Given the description of an element on the screen output the (x, y) to click on. 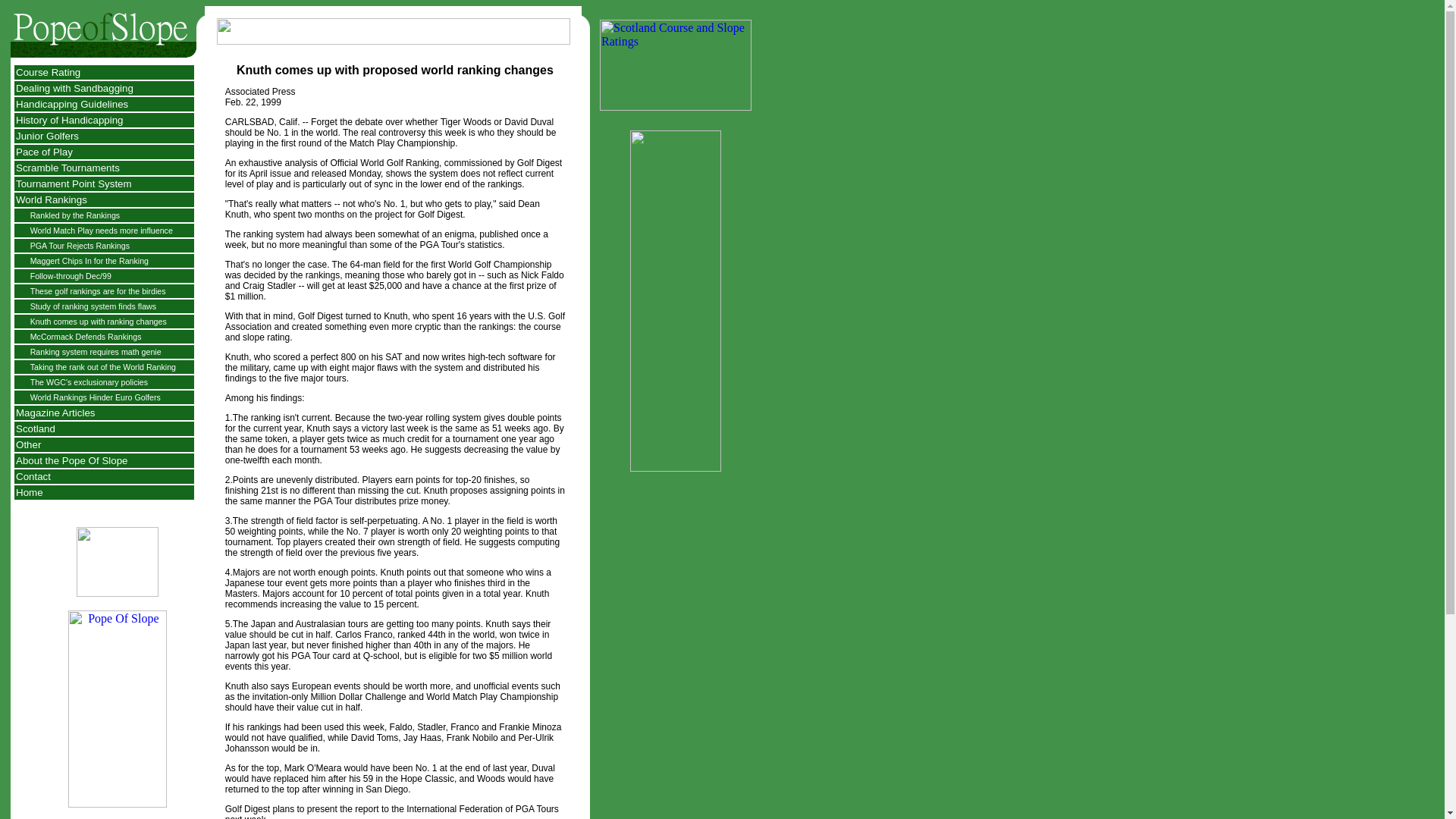
Scramble Tournaments (67, 167)
Dealing with Sandbagging (74, 88)
World Rankings Hinder Euro Golfers (95, 397)
Tournament Point System (74, 183)
Magazine Articles (55, 412)
Ranking system requires math genie (95, 351)
PGA Tour Rejects Rankings (79, 245)
These golf rankings are for the birdies (97, 290)
Contact (33, 476)
Knuth comes up with ranking changes (98, 320)
